Given the description of an element on the screen output the (x, y) to click on. 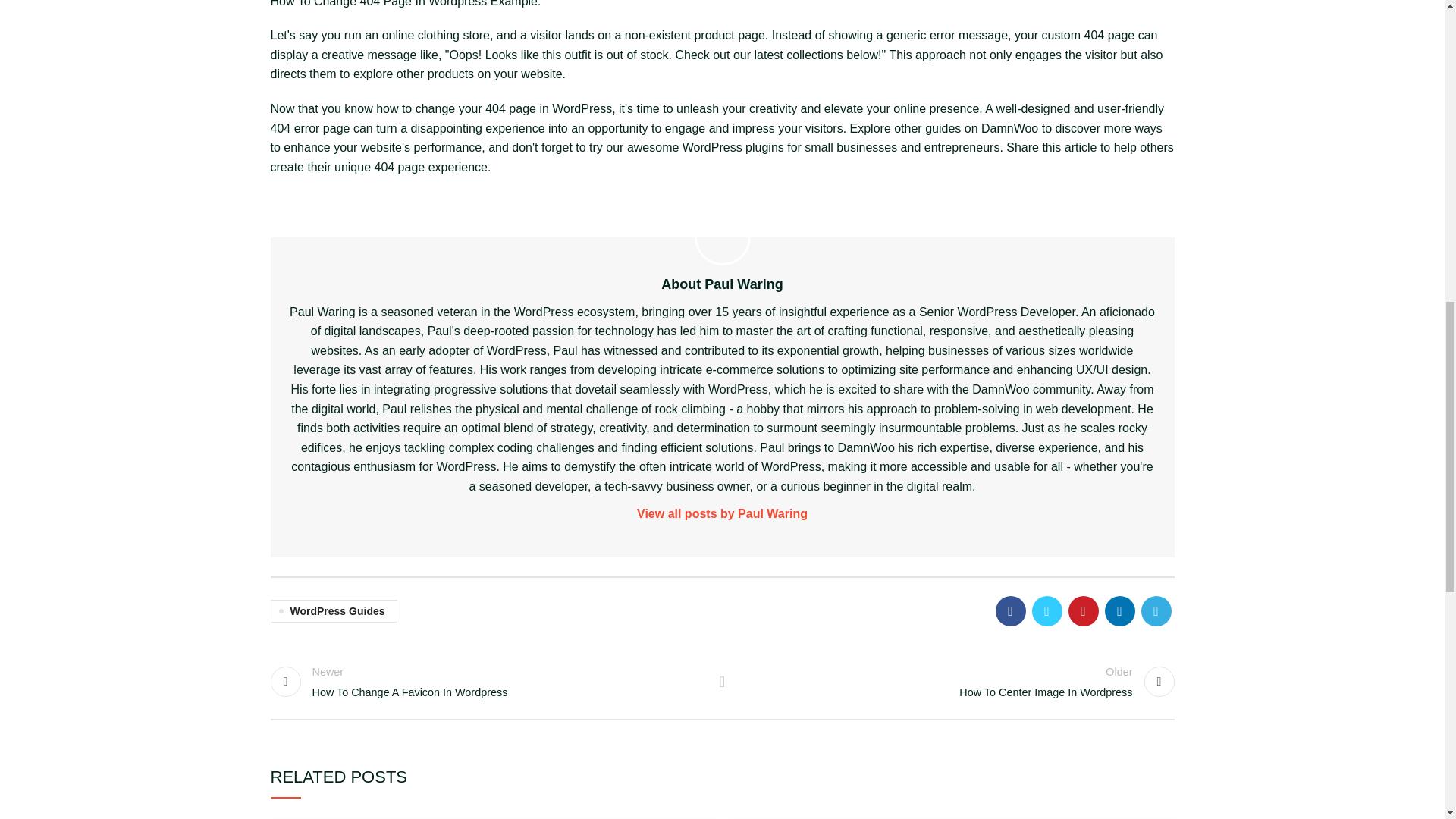
View all posts by Paul Waring (722, 514)
Back to list (721, 681)
WordPress Guides (488, 681)
